Given the description of an element on the screen output the (x, y) to click on. 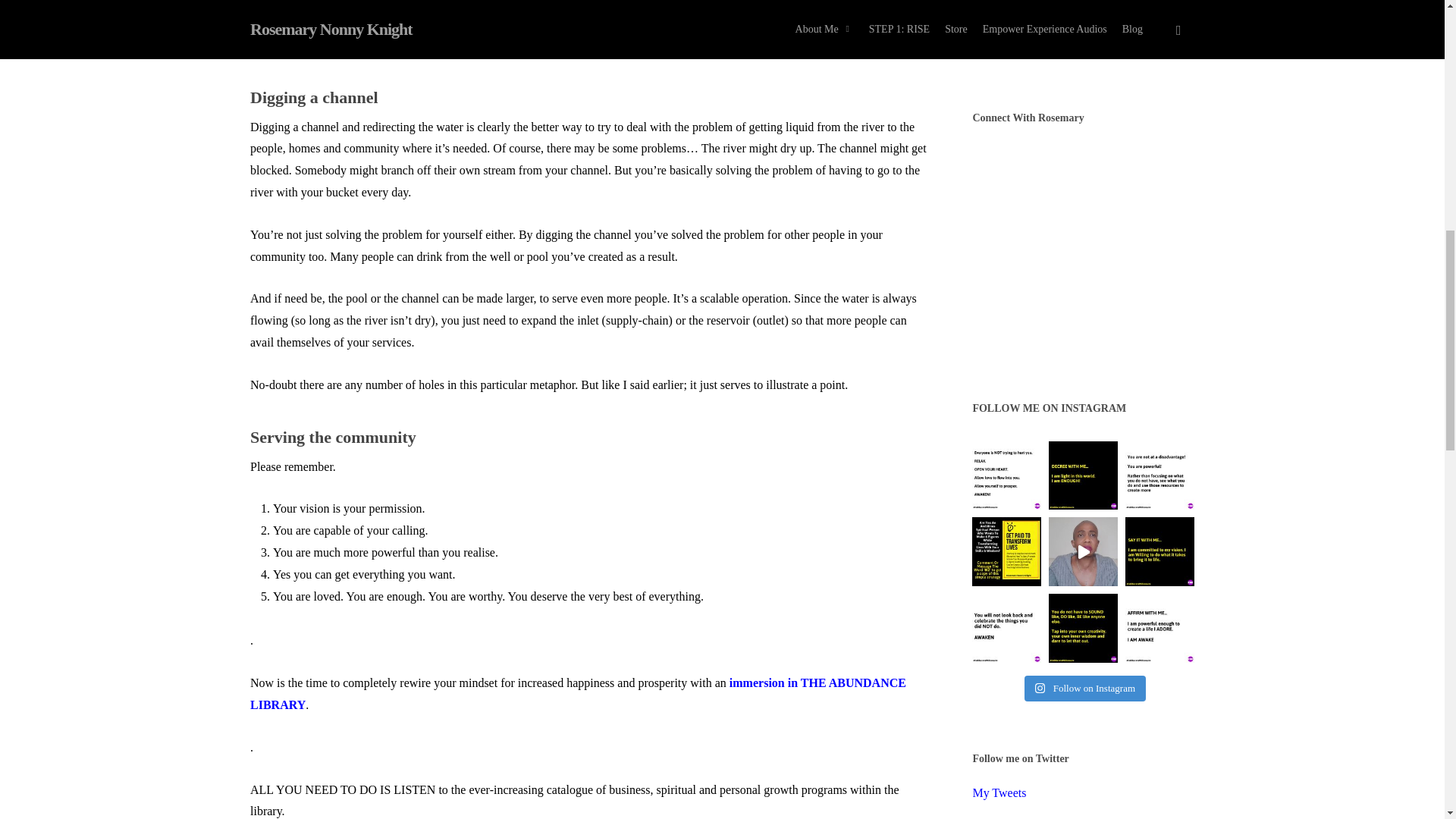
immersion in THE ABUNDANCE LIBRARY (577, 693)
